Given the description of an element on the screen output the (x, y) to click on. 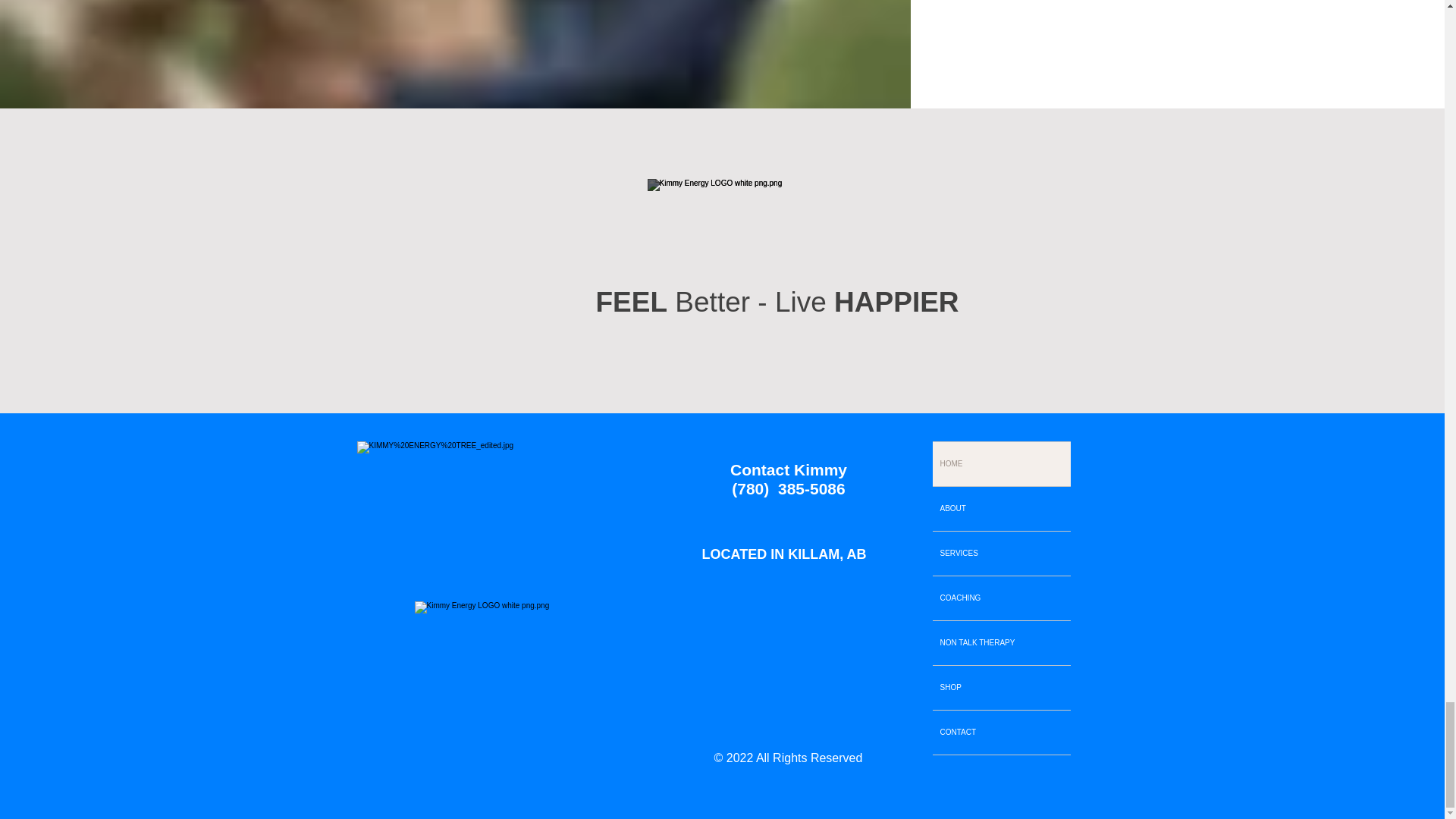
ABOUT (1001, 508)
HOME (1001, 464)
SHOP (1001, 687)
COACHING (1001, 597)
NON TALK THERAPY (1001, 642)
CONTACT (1001, 732)
SERVICES (1001, 553)
